Given the description of an element on the screen output the (x, y) to click on. 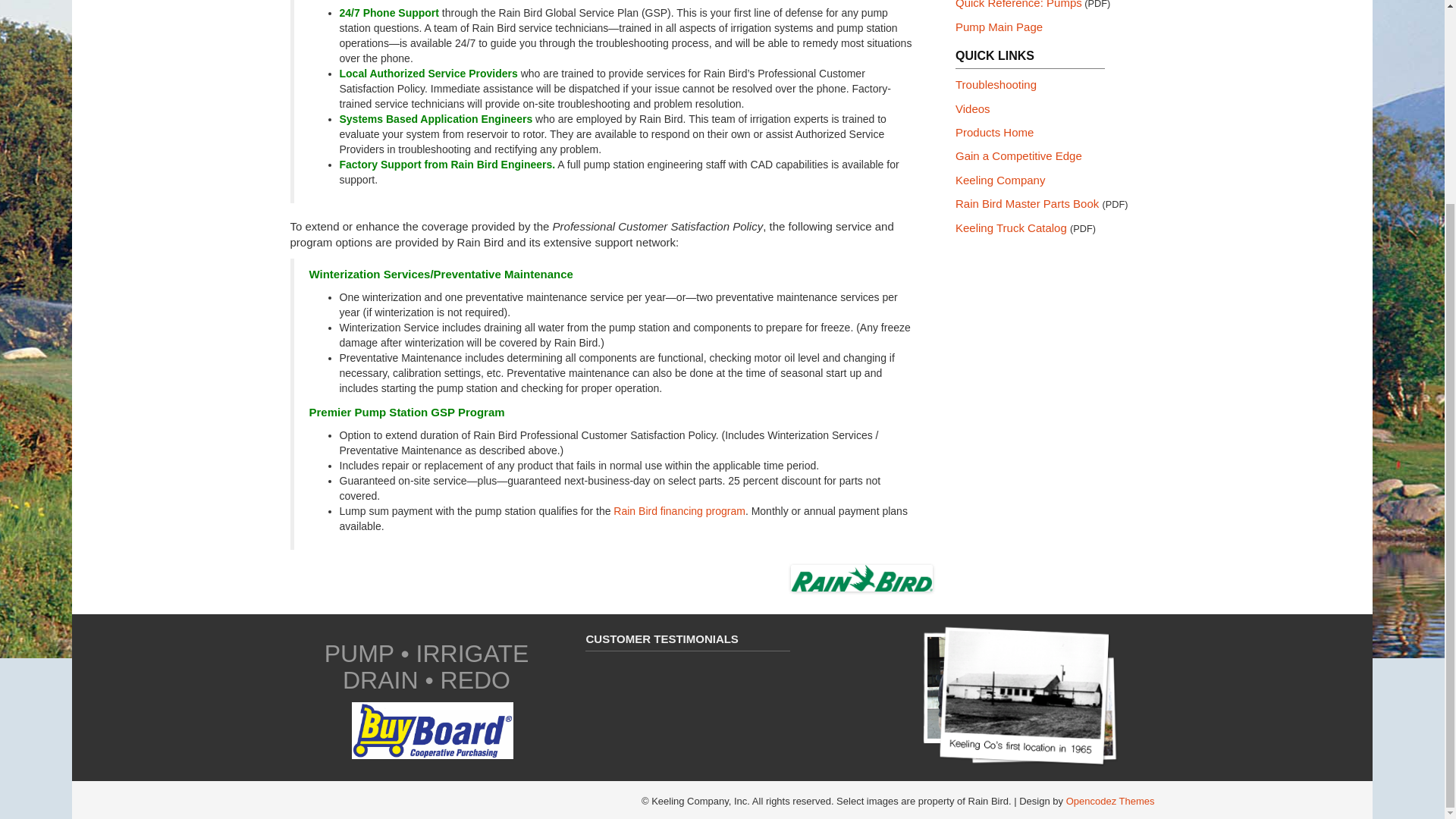
Rain Bird financing program (678, 510)
Videos (972, 108)
Opencodez Themes (1109, 800)
Pump Main Page (998, 26)
Products Home (994, 132)
Troubleshooting (995, 83)
Gain a Competitive Edge (1018, 155)
Rain Bird Master Parts Book (1027, 203)
Keeling Truck Catalog (1012, 227)
Quick Reference: Pumps (1018, 4)
Keeling Company (1000, 179)
